Given the description of an element on the screen output the (x, y) to click on. 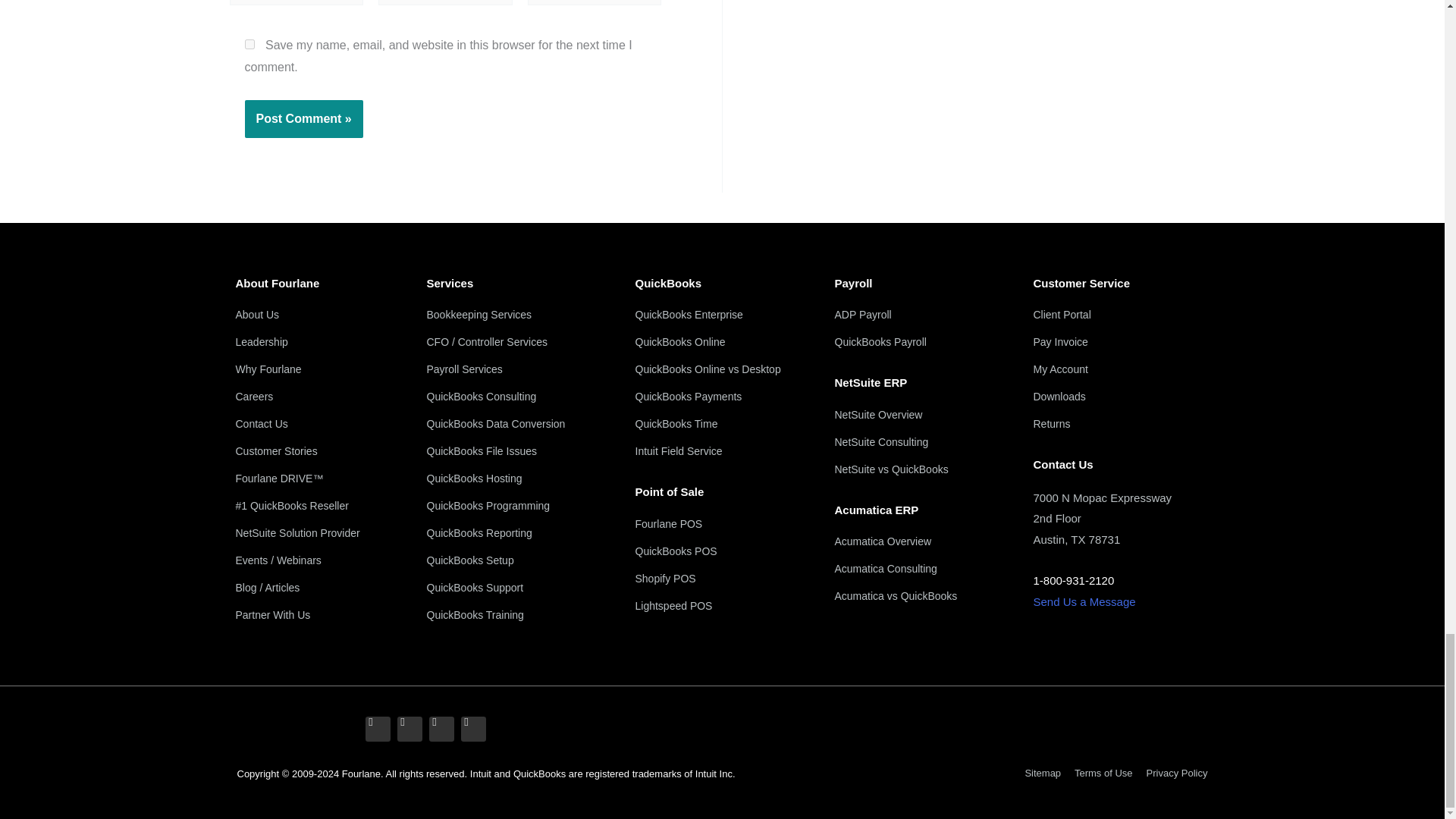
Fourlane-logo-white (283, 731)
yes (248, 44)
